Given the description of an element on the screen output the (x, y) to click on. 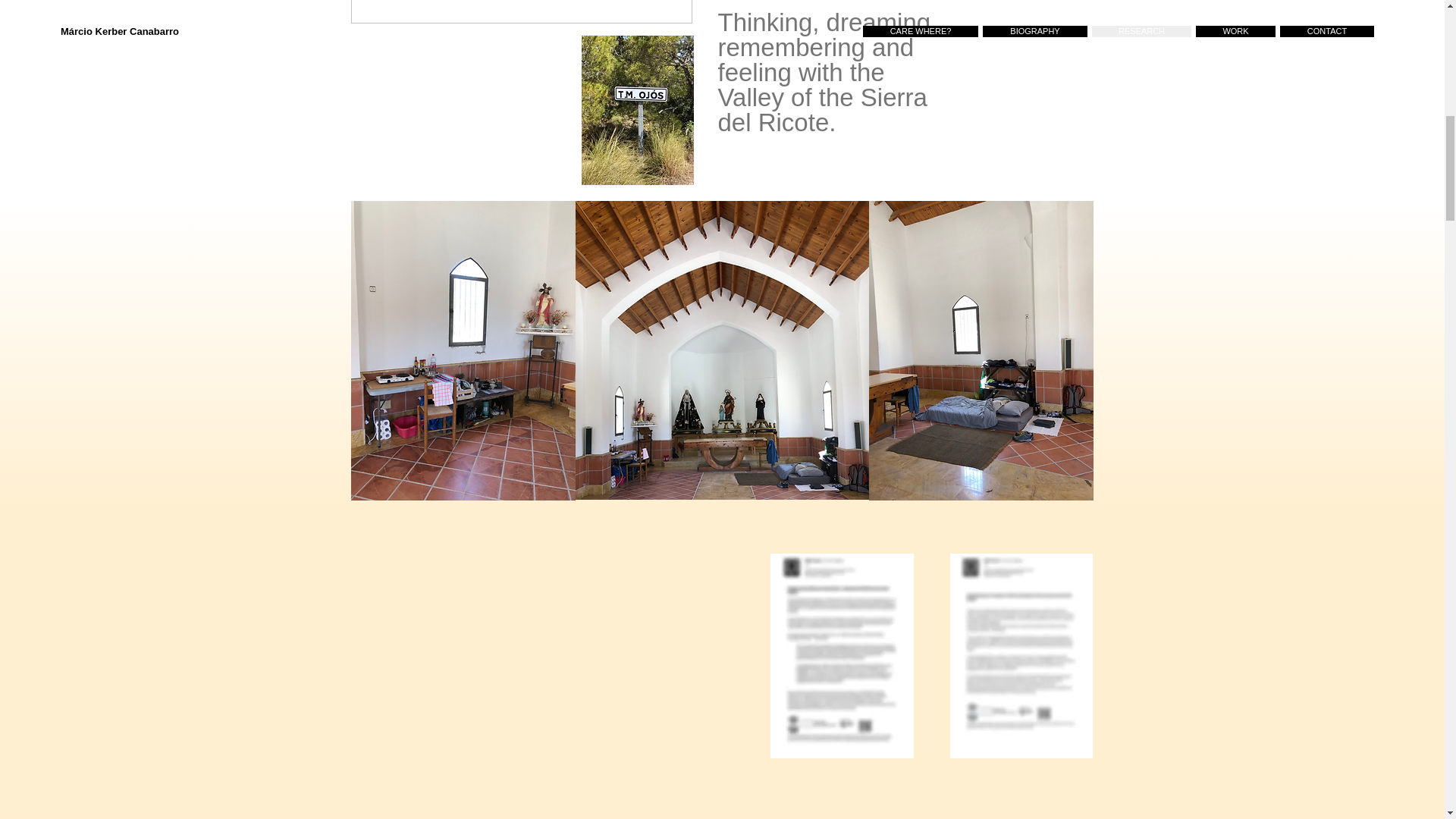
8AF29025-F1BC-46B0-BA0D-FB695ADD3D0C.hei (462, 350)
Hoja de sala  Residencia Aislamiento en  (1020, 655)
Hoja de sala  Residencia Aislamiento en  (842, 655)
943E9227-EE91-46CC-AB5C-6AF76B15FC23.hei (721, 349)
003806E3-0AFE-417F-8ABB-DFDE30140F29.hei (981, 350)
